Given the description of an element on the screen output the (x, y) to click on. 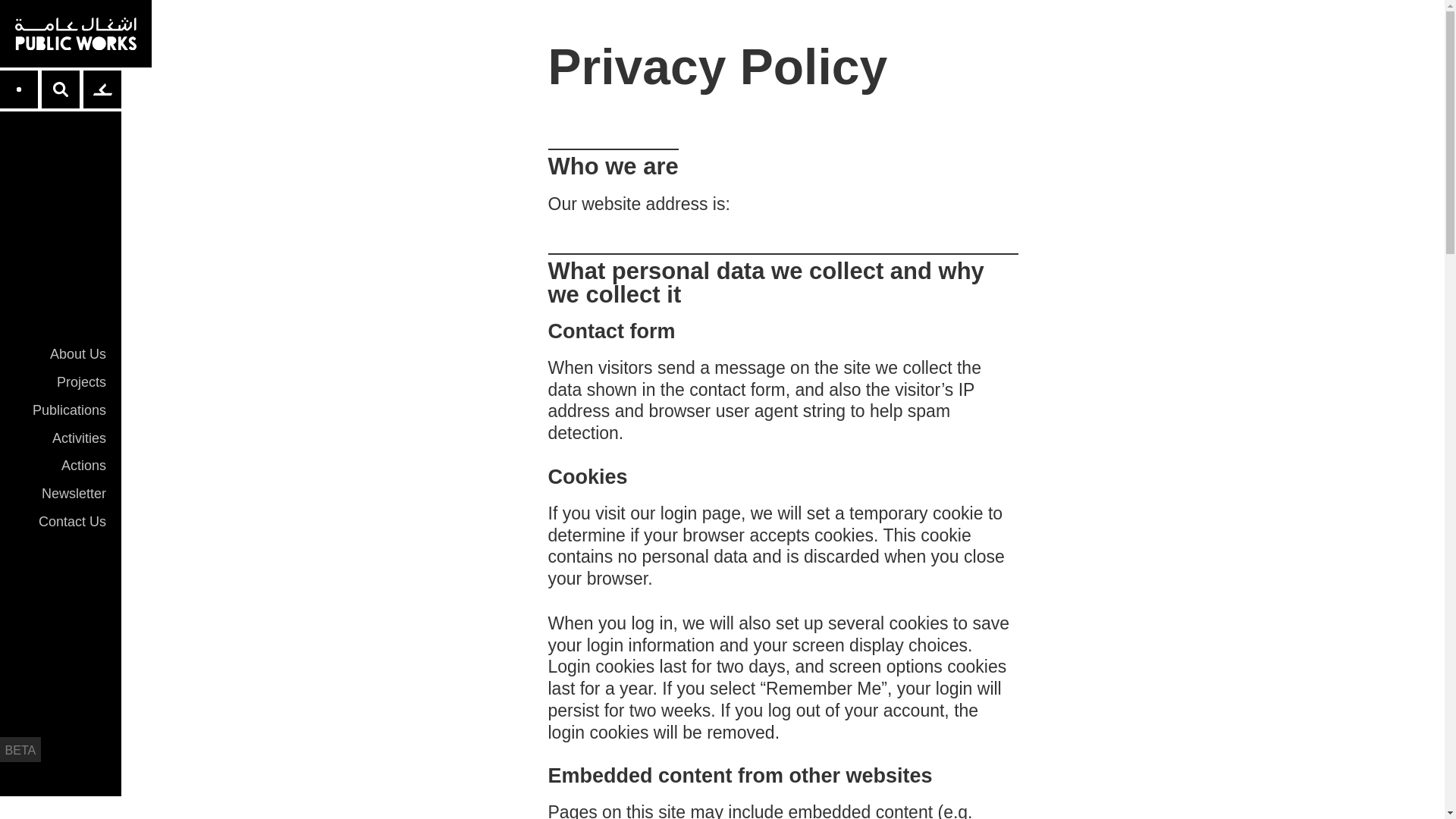
About Us (60, 354)
Activities (60, 438)
Newsletter (60, 493)
Actions (60, 465)
Contact Us (60, 522)
Projects (60, 382)
Publications (60, 411)
